Given the description of an element on the screen output the (x, y) to click on. 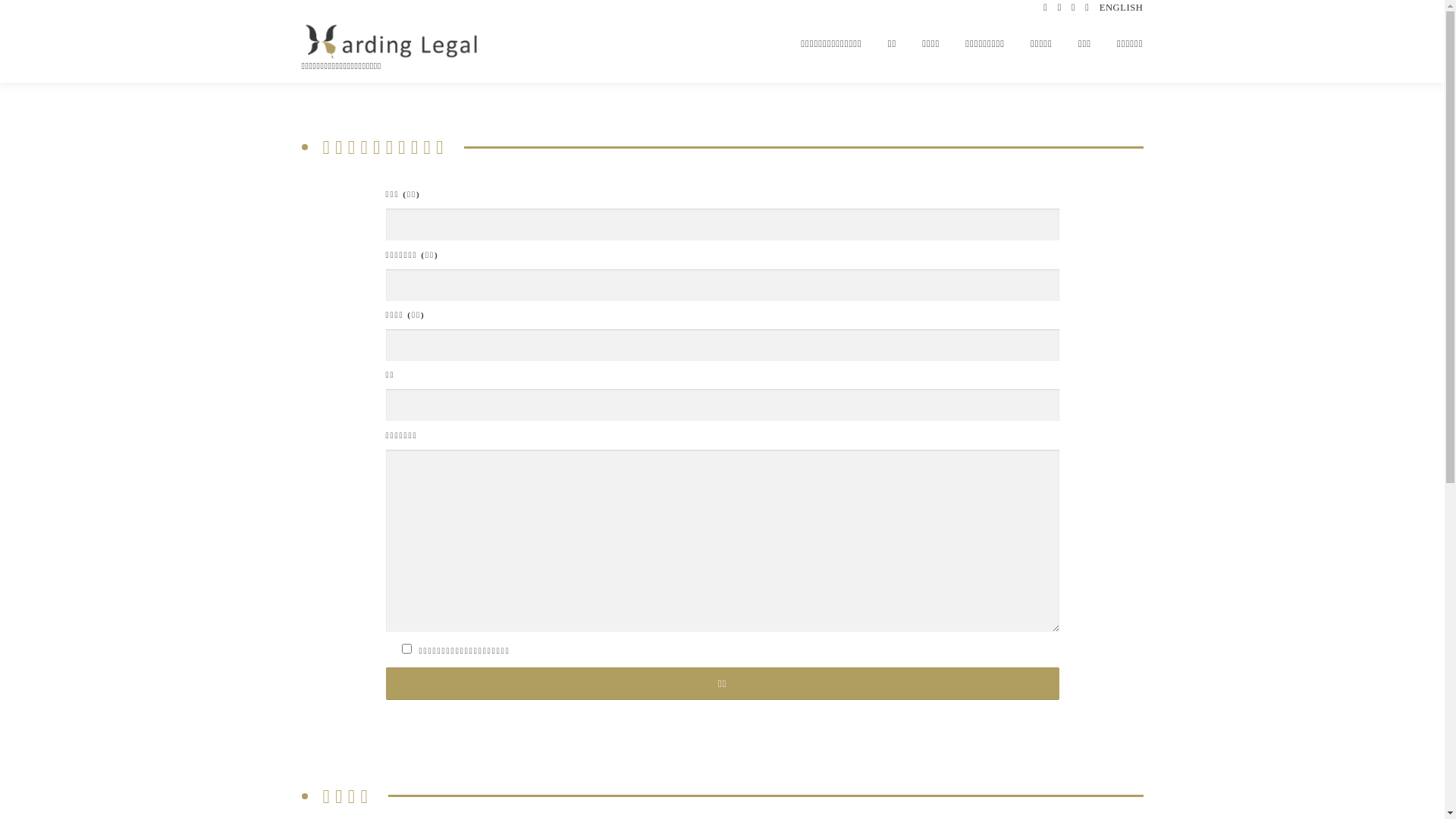
ENGLISH Element type: text (1121, 7)
